Given the description of an element on the screen output the (x, y) to click on. 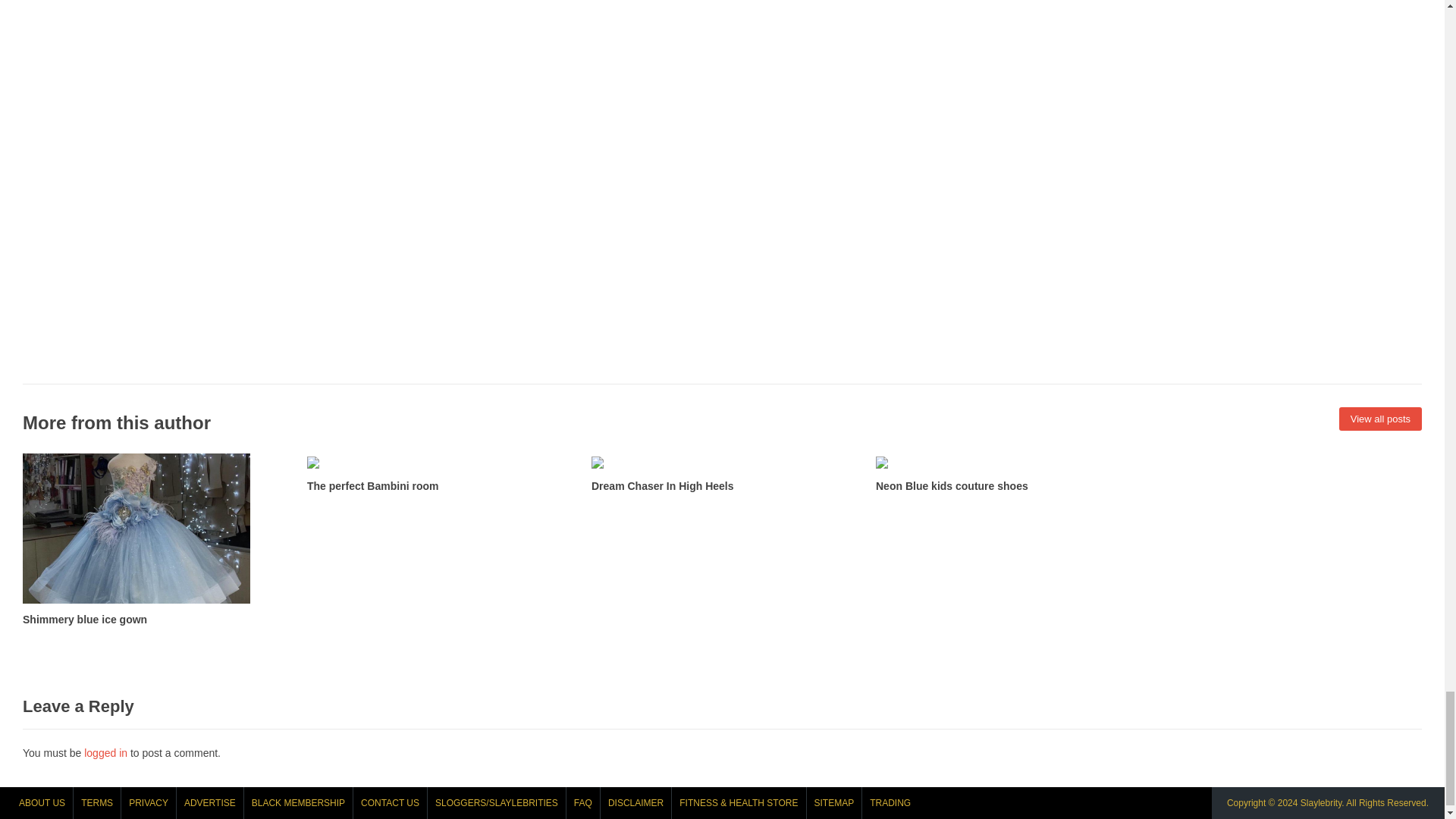
Dream Chaser In High Heels (722, 473)
View all posts (1380, 419)
logged in (106, 752)
Shimmery blue ice gown (153, 540)
The perfect Bambini room (438, 473)
Neon Blue kids couture shoes (1006, 473)
